Given the description of an element on the screen output the (x, y) to click on. 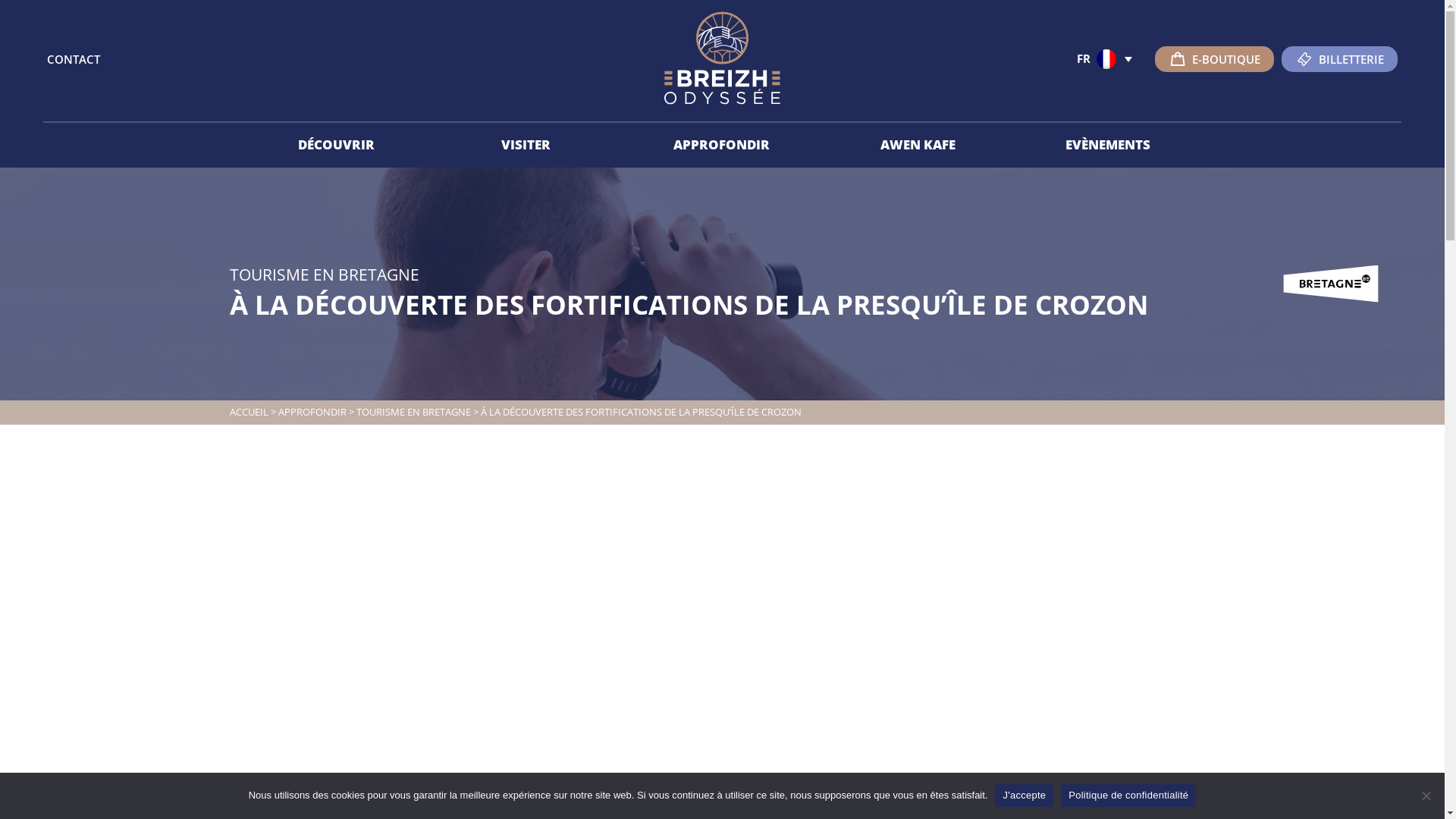
Non Element type: hover (1425, 795)
VISITER Element type: text (525, 144)
TOURISME EN BRETAGNE Element type: text (413, 411)
APPROFONDIR Element type: text (311, 411)
AWEN KAFE Element type: text (917, 144)
E-BOUTIQUE Element type: text (1214, 58)
CONTACT Element type: text (73, 58)
APPROFONDIR Element type: text (721, 144)
ACCUEIL Element type: text (248, 411)
BILLETTERIE Element type: text (1339, 58)
J'accepte Element type: text (1023, 795)
